Given the description of an element on the screen output the (x, y) to click on. 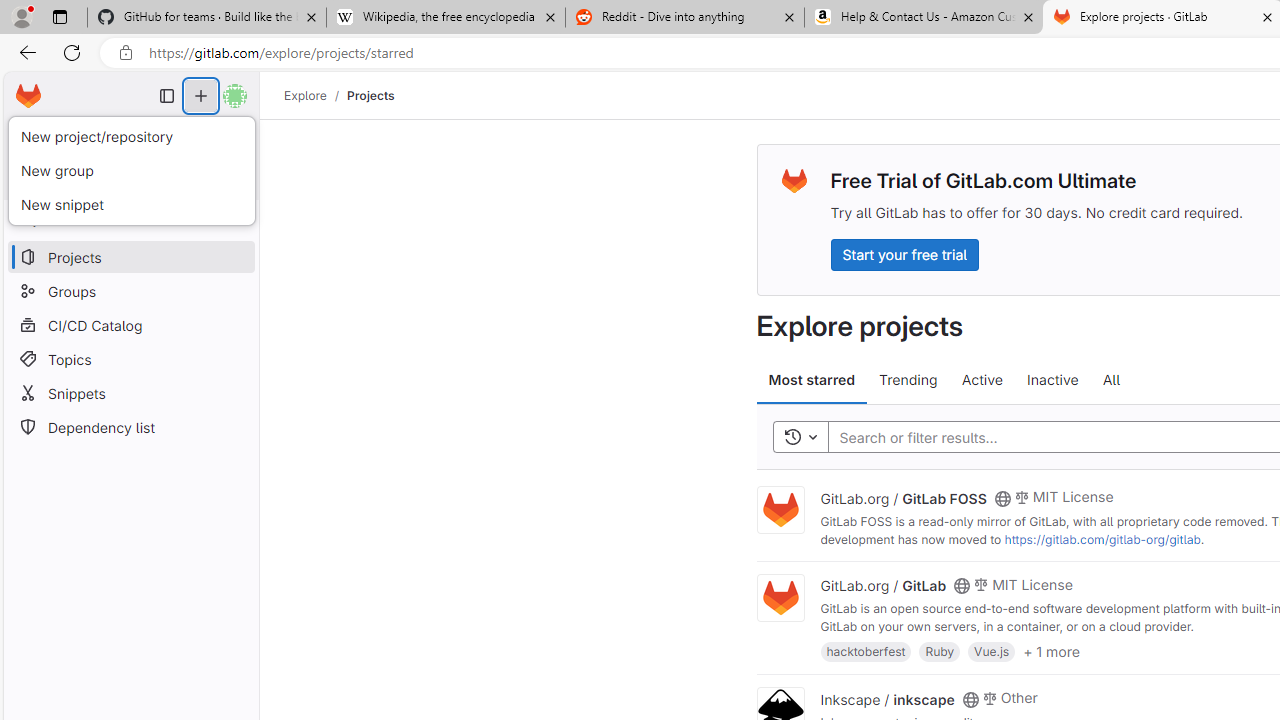
Ruby (940, 650)
CI/CD Catalog (130, 325)
Merge requests 0 (131, 136)
Create new... (201, 96)
Groups (130, 291)
Assigned issues 0 (50, 136)
Trending (907, 379)
All (1111, 379)
Explore/ (316, 95)
Dependency list (130, 427)
Groups (130, 291)
